Given the description of an element on the screen output the (x, y) to click on. 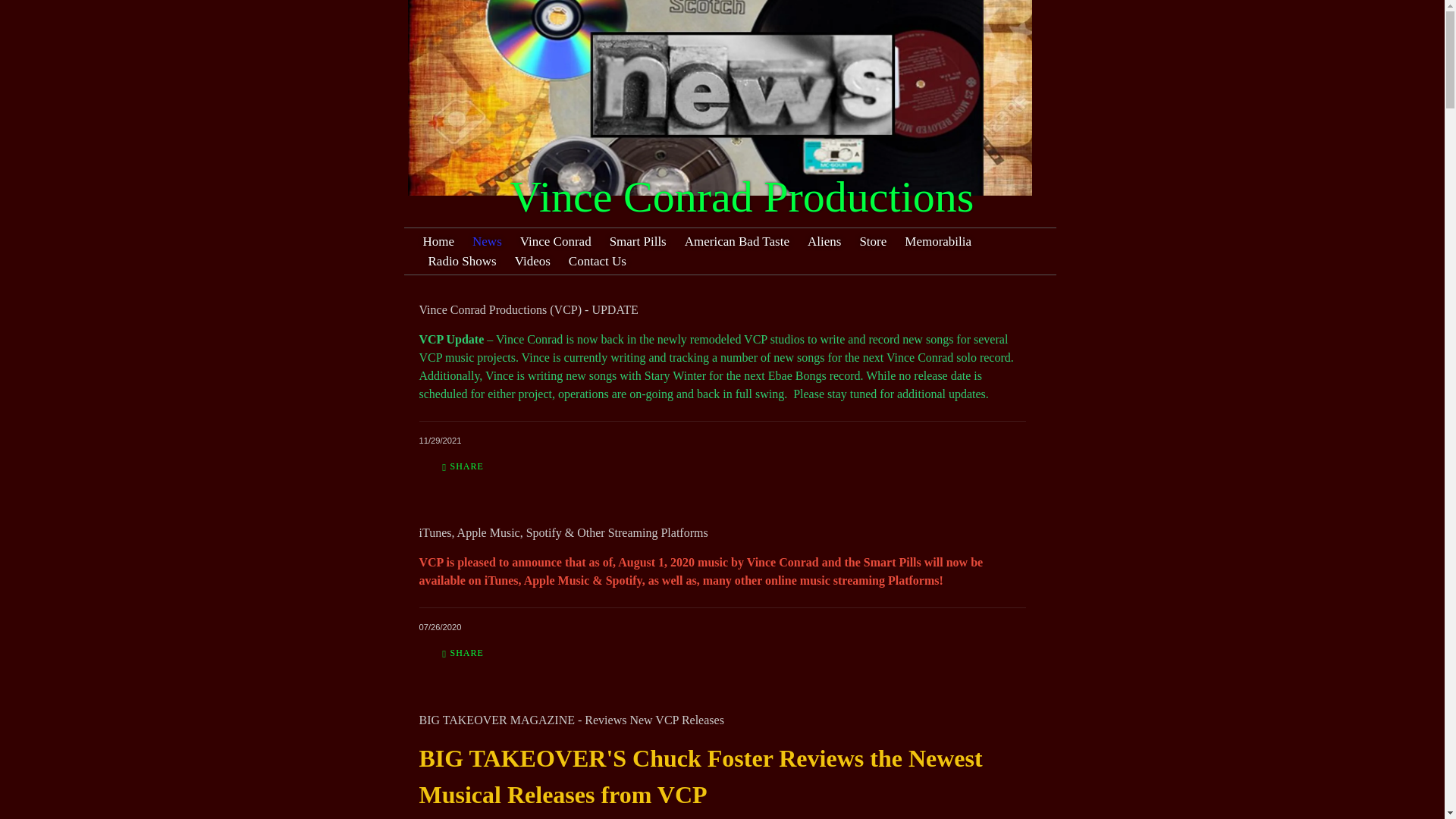
Radio Shows (462, 261)
Home (441, 241)
SHARE (462, 466)
American Bad Taste (736, 241)
Contact Us (597, 261)
News (486, 241)
Vince Conrad Productions (665, 200)
Aliens (823, 241)
BIG TAKEOVER MAGAZINE - Reviews New VCP Releases (572, 719)
Videos (532, 261)
